Given the description of an element on the screen output the (x, y) to click on. 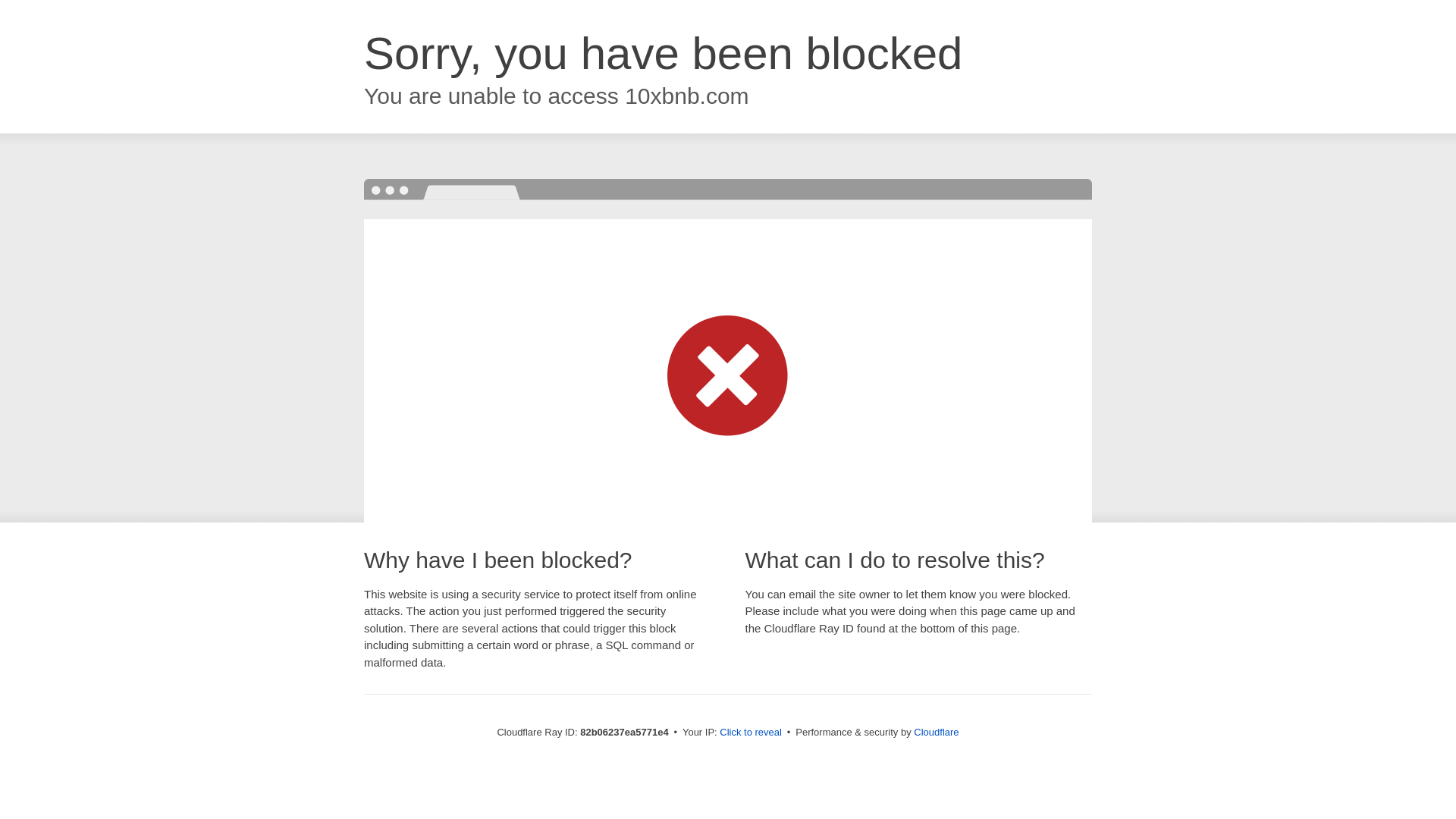
Click to reveal Element type: text (750, 732)
Cloudflare Element type: text (935, 731)
